Given the description of an element on the screen output the (x, y) to click on. 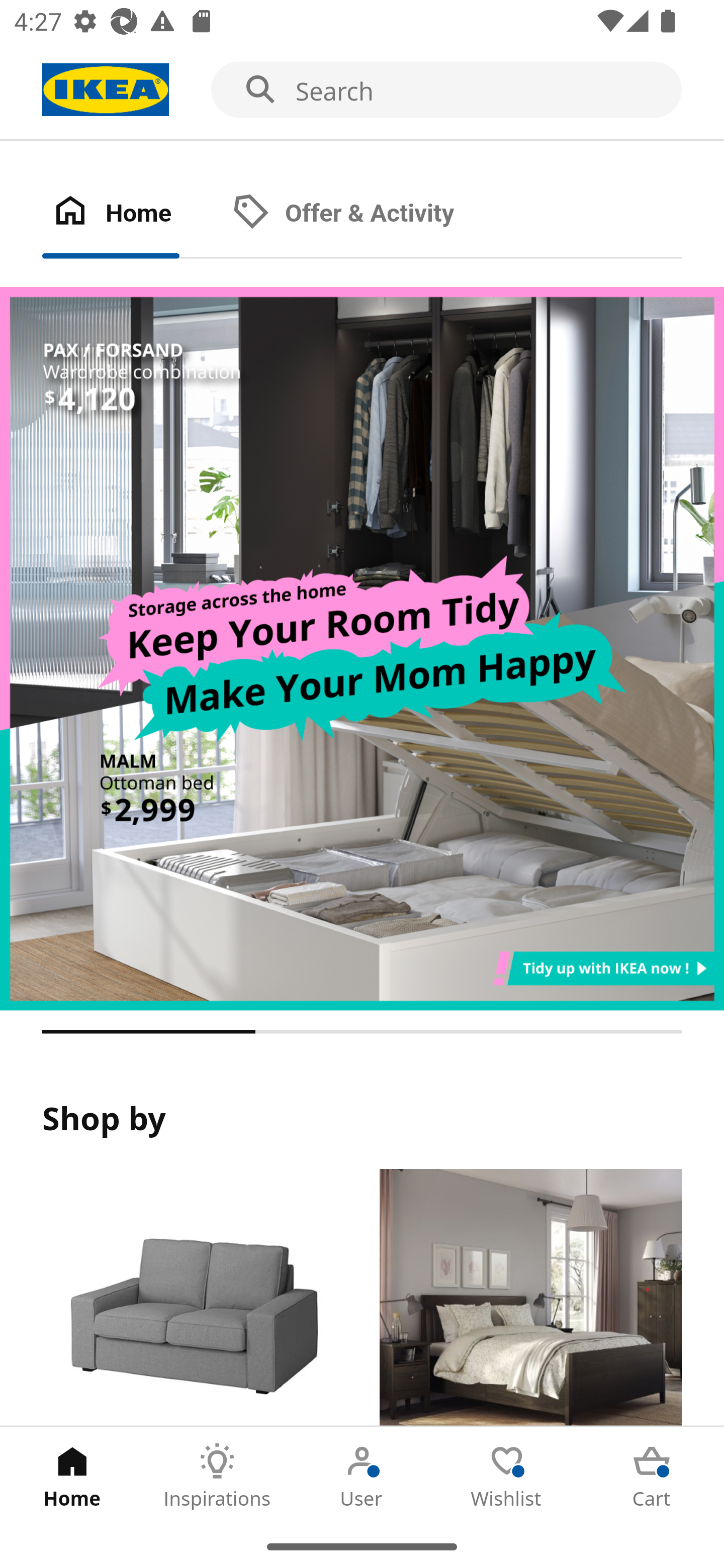
Search (361, 90)
Home
Tab 1 of 2 (131, 213)
Offer & Activity
Tab 2 of 2 (363, 213)
Products (192, 1297)
Rooms (530, 1297)
Home
Tab 1 of 5 (72, 1476)
Inspirations
Tab 2 of 5 (216, 1476)
User
Tab 3 of 5 (361, 1476)
Wishlist
Tab 4 of 5 (506, 1476)
Cart
Tab 5 of 5 (651, 1476)
